Given the description of an element on the screen output the (x, y) to click on. 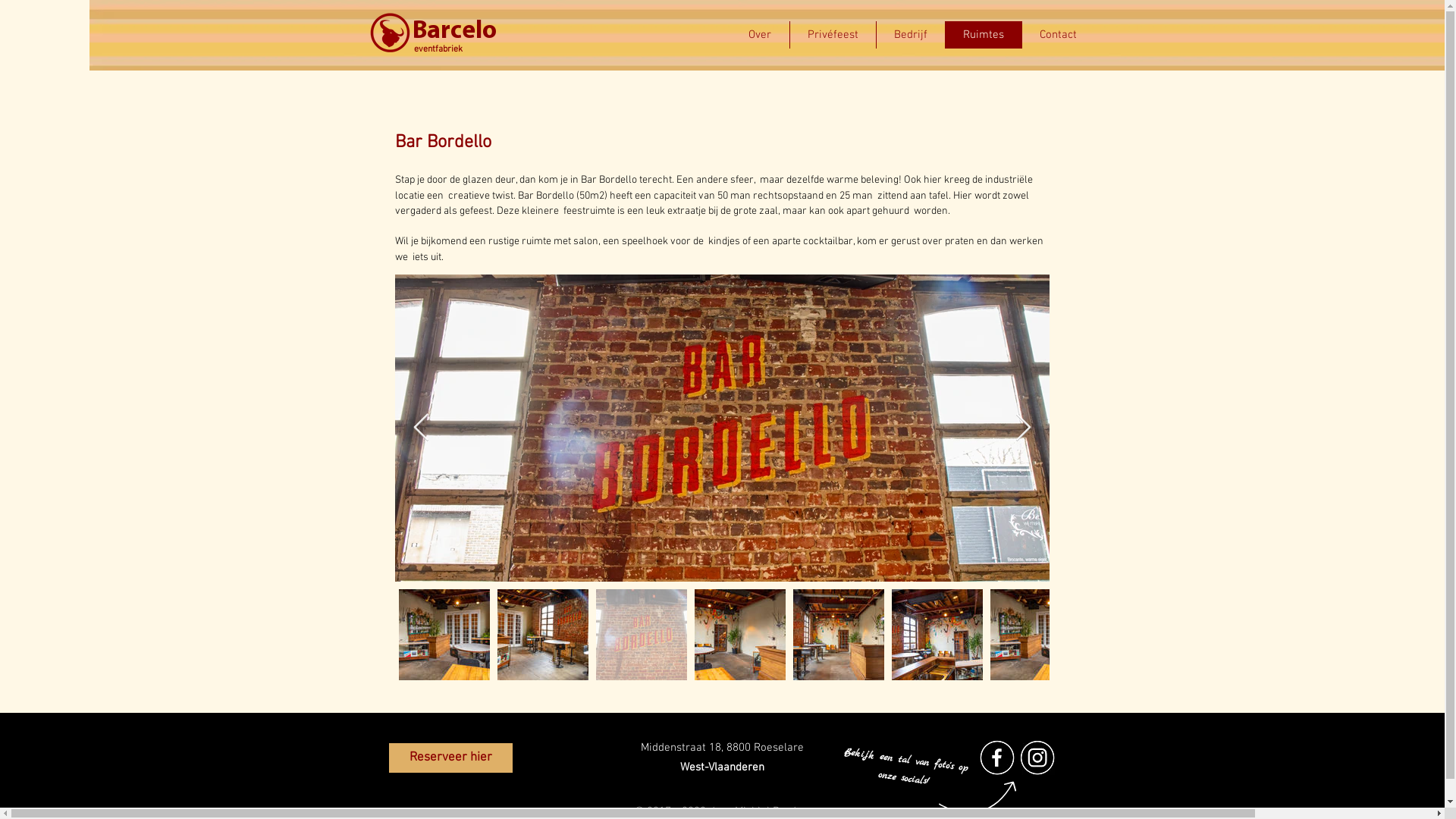
eventfabriek Element type: text (438, 48)
Contact Element type: text (1056, 34)
Reserveer hier Element type: text (449, 757)
Ruimtes Element type: text (982, 34)
Barcelo Element type: text (454, 28)
Bedrijf Element type: text (909, 34)
Over Element type: text (760, 34)
